Given the description of an element on the screen output the (x, y) to click on. 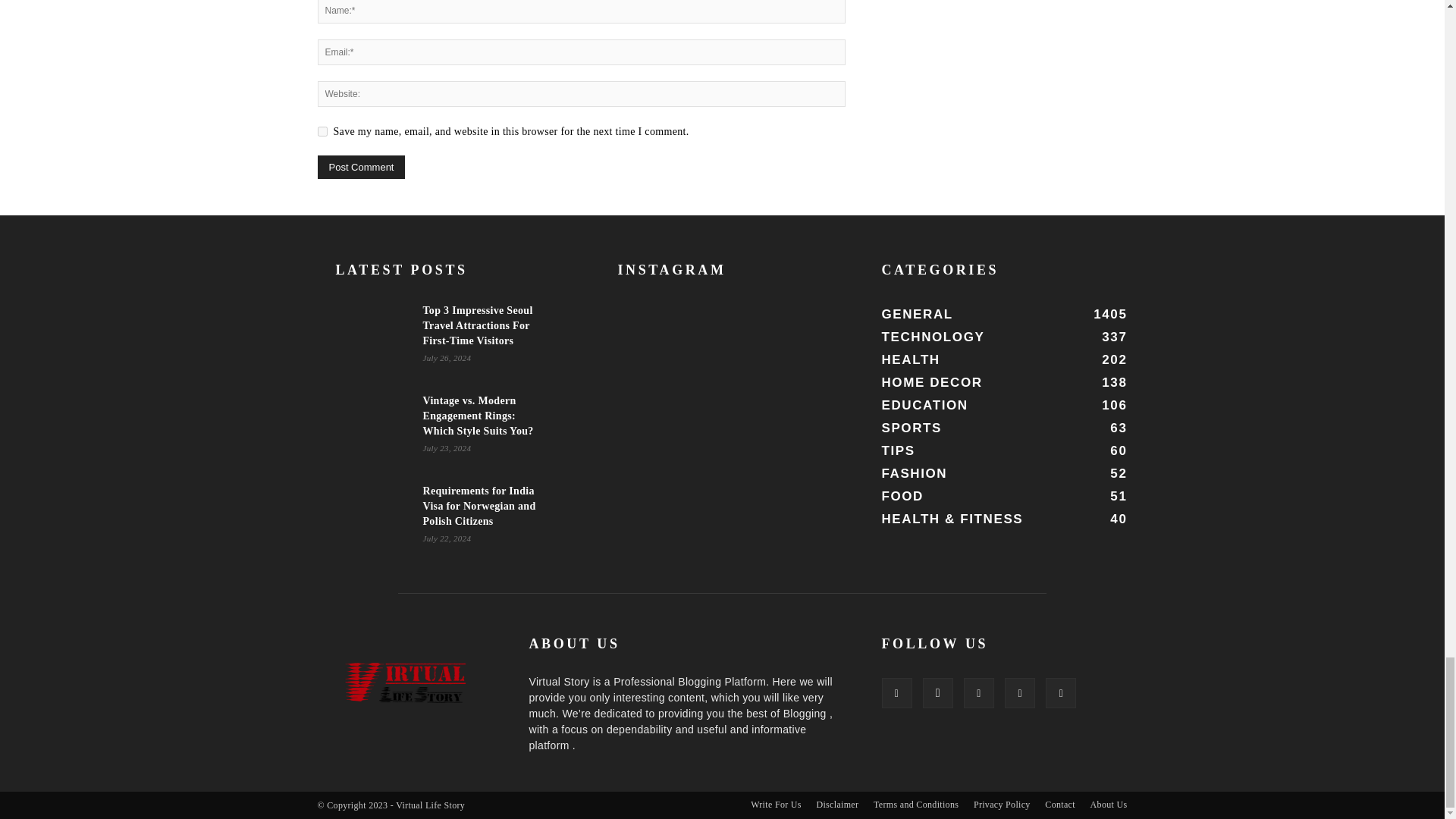
yes (321, 131)
Post Comment (360, 167)
